Given the description of an element on the screen output the (x, y) to click on. 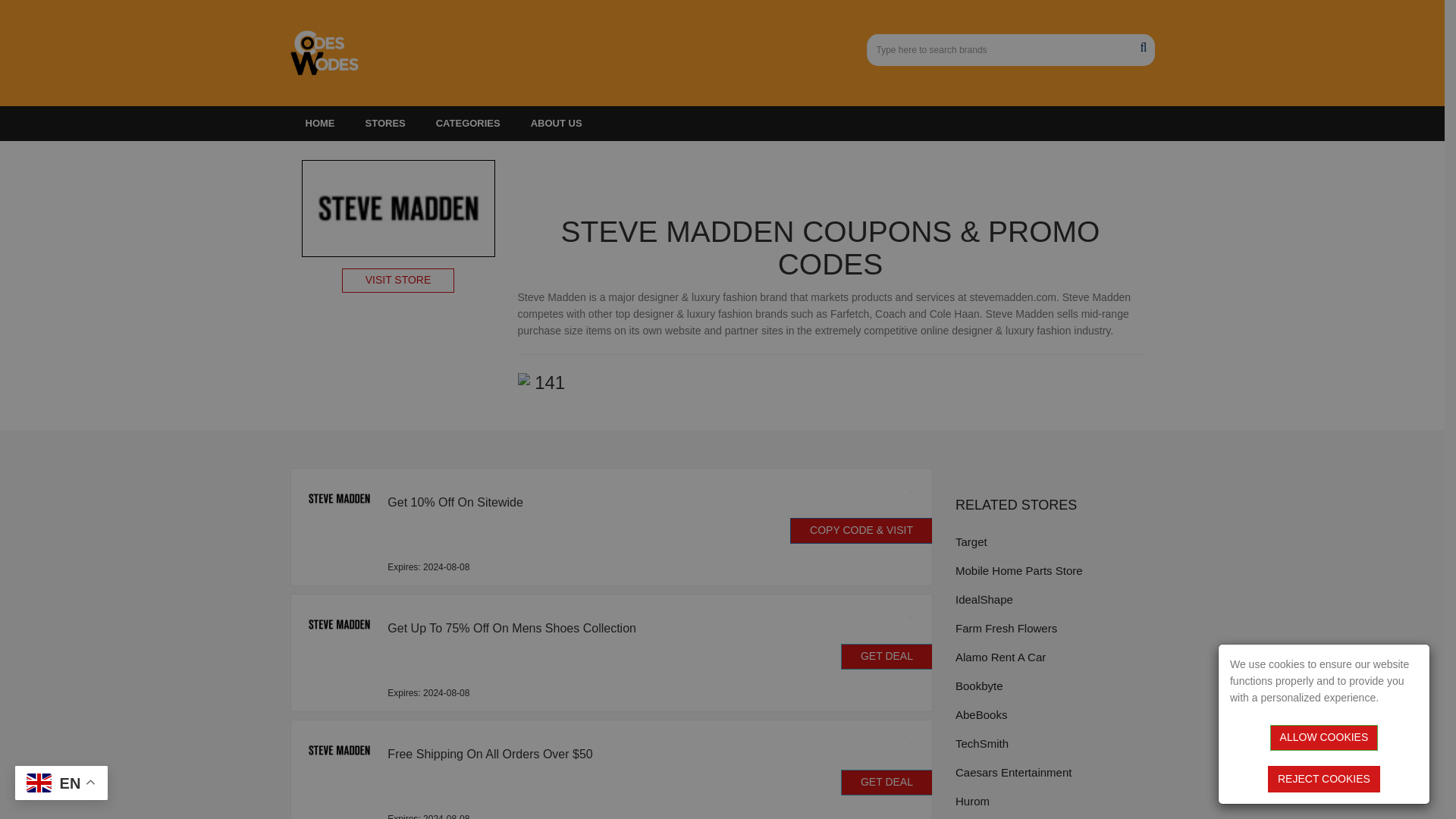
Mobile Home Parts Store (1054, 570)
GET DEAL (887, 656)
Alamo Rent A Car (1054, 656)
TechSmith (1054, 742)
Hurom (1054, 800)
Target (1054, 541)
Bookbyte (1054, 685)
ABOUT US (555, 123)
CATEGORIES (467, 123)
IdealShape (1054, 599)
VISIT STORE (398, 280)
GET DEAL (887, 782)
STORES (385, 123)
Farm Fresh Flowers (1054, 628)
HOME (319, 123)
